Given the description of an element on the screen output the (x, y) to click on. 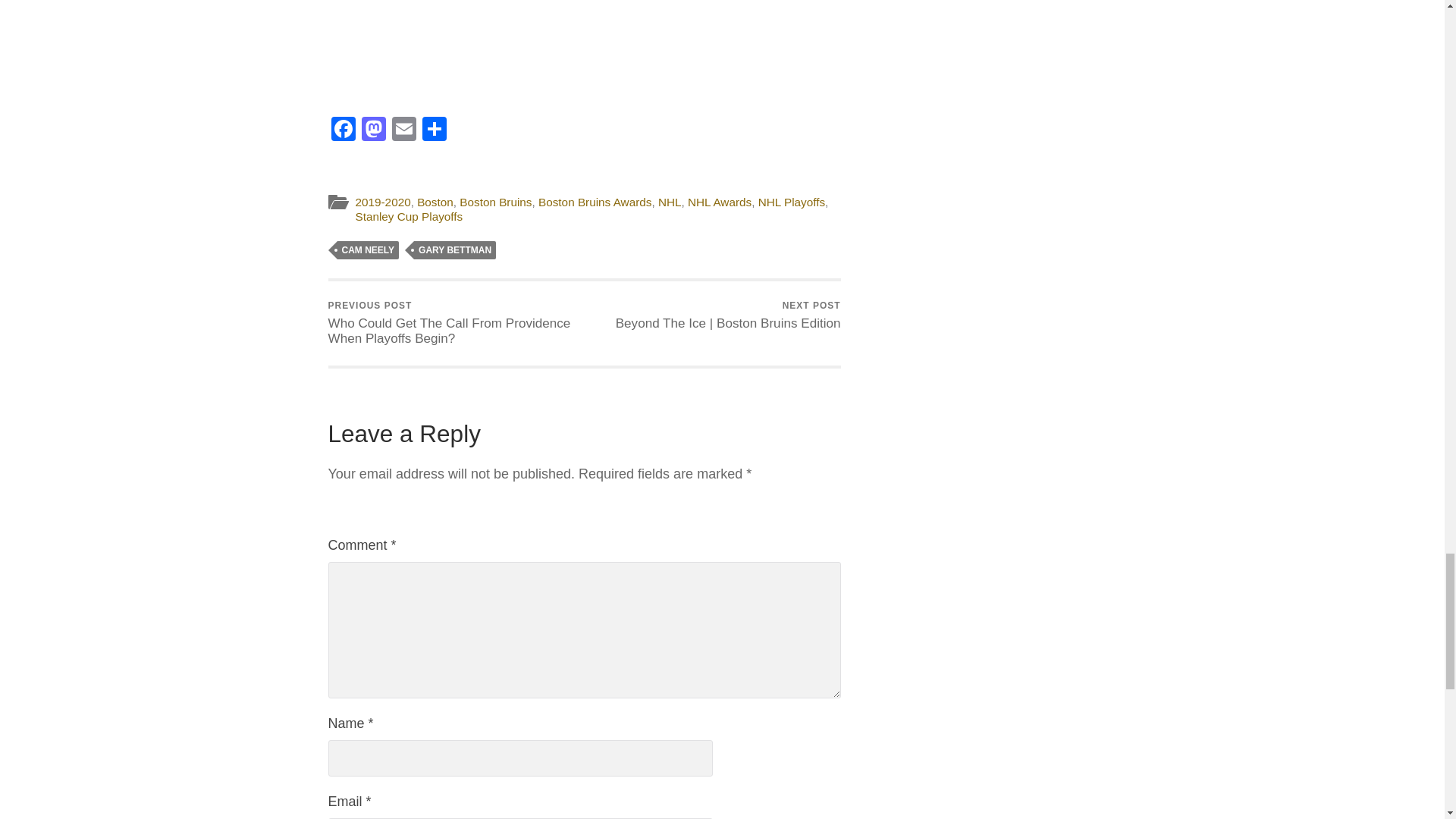
Mastodon (373, 130)
Facebook (342, 130)
Providence Bruins Karson Kuhlman 2018-19 Goal Highlights (583, 45)
Email (403, 130)
